Given the description of an element on the screen output the (x, y) to click on. 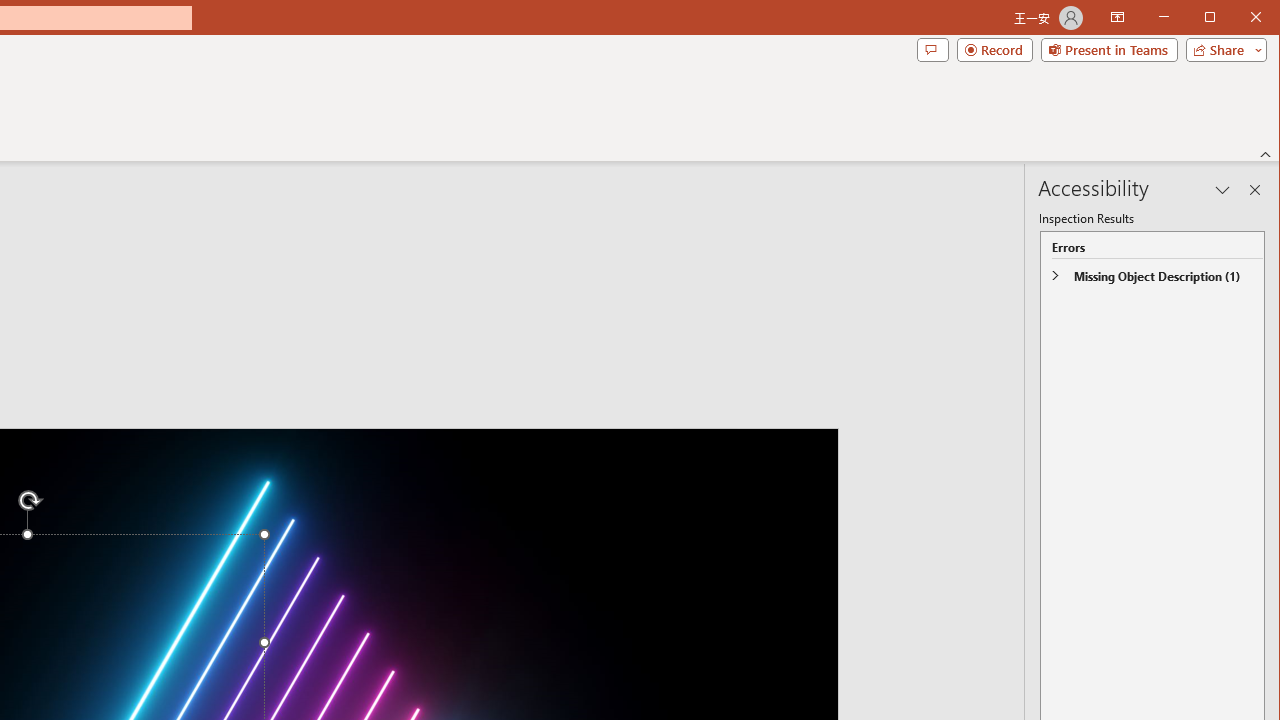
Maximize (1238, 18)
